Given the description of an element on the screen output the (x, y) to click on. 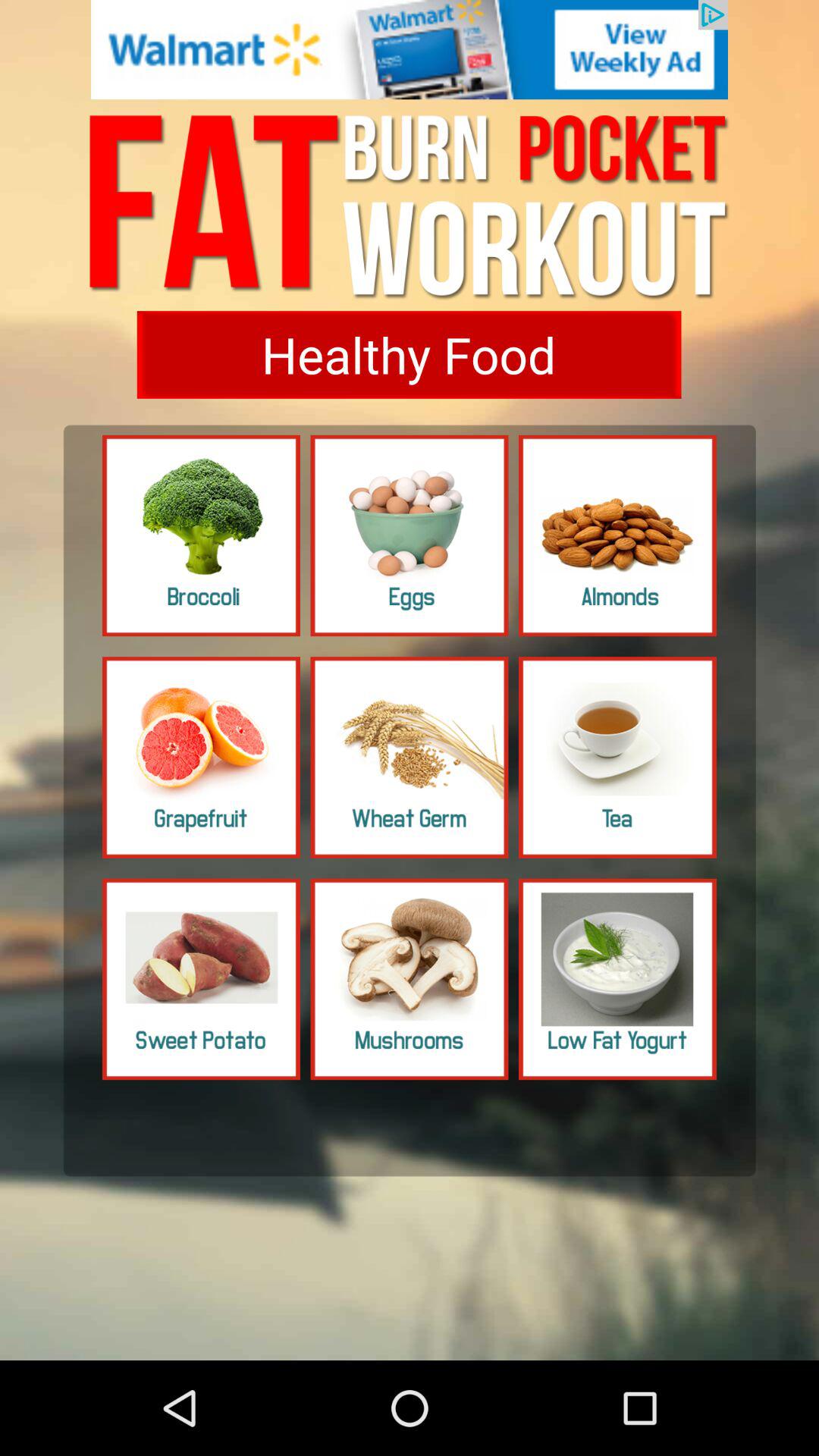
click the healthy food option (409, 354)
